Given the description of an element on the screen output the (x, y) to click on. 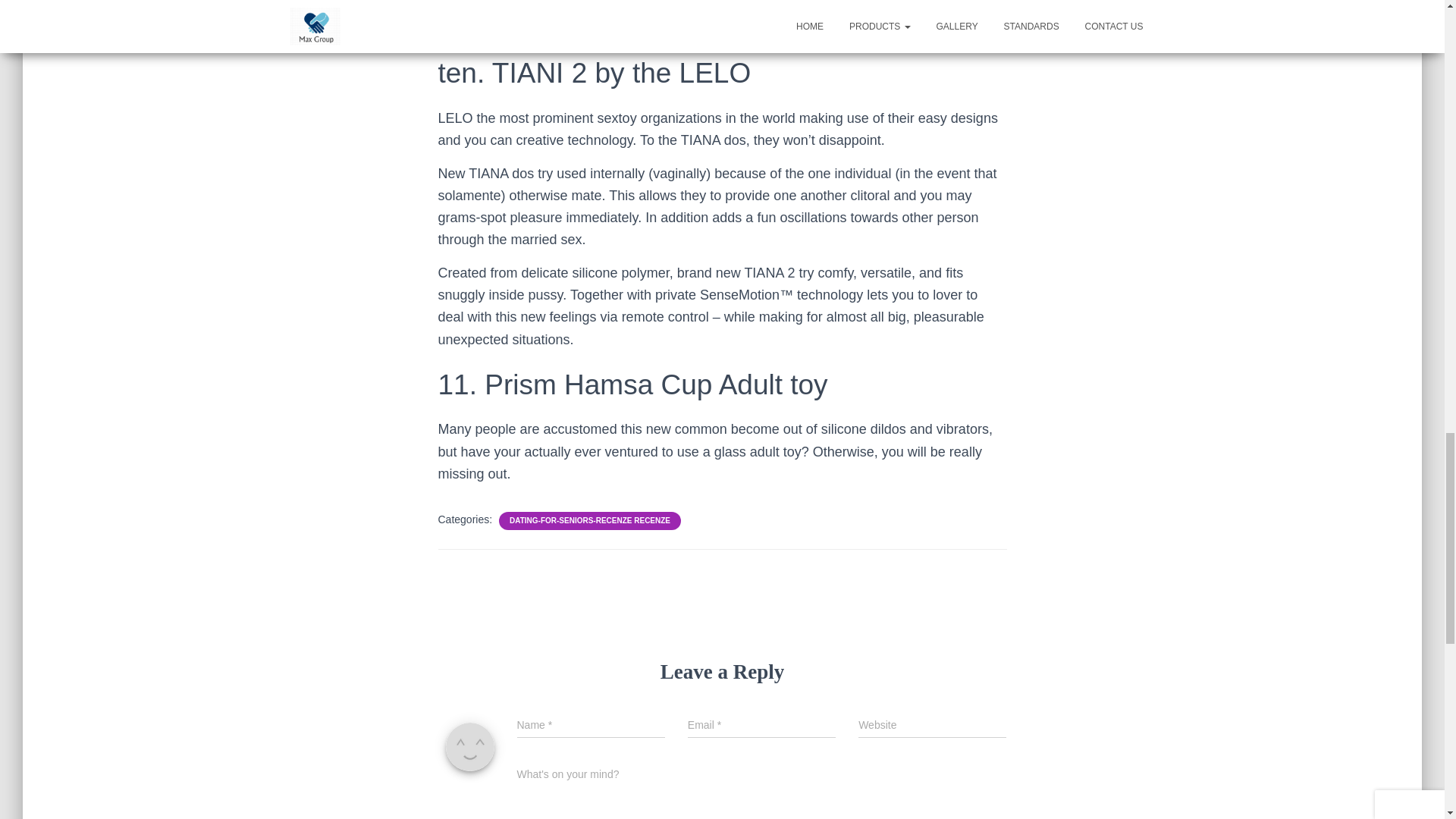
DATING-FOR-SENIORS-RECENZE RECENZE (589, 520)
